Given the description of an element on the screen output the (x, y) to click on. 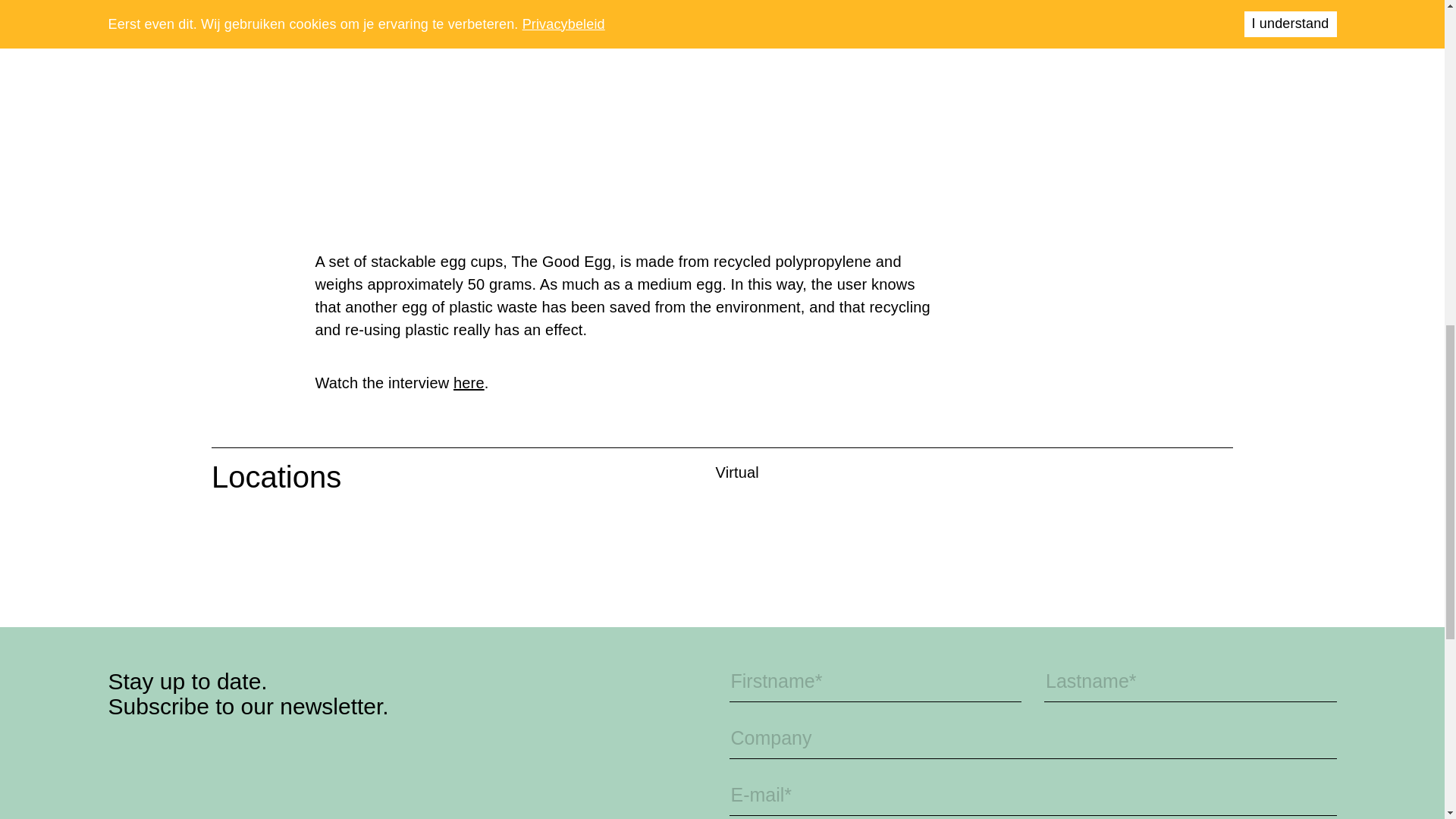
Sign up (1282, 817)
here (468, 382)
